Given the description of an element on the screen output the (x, y) to click on. 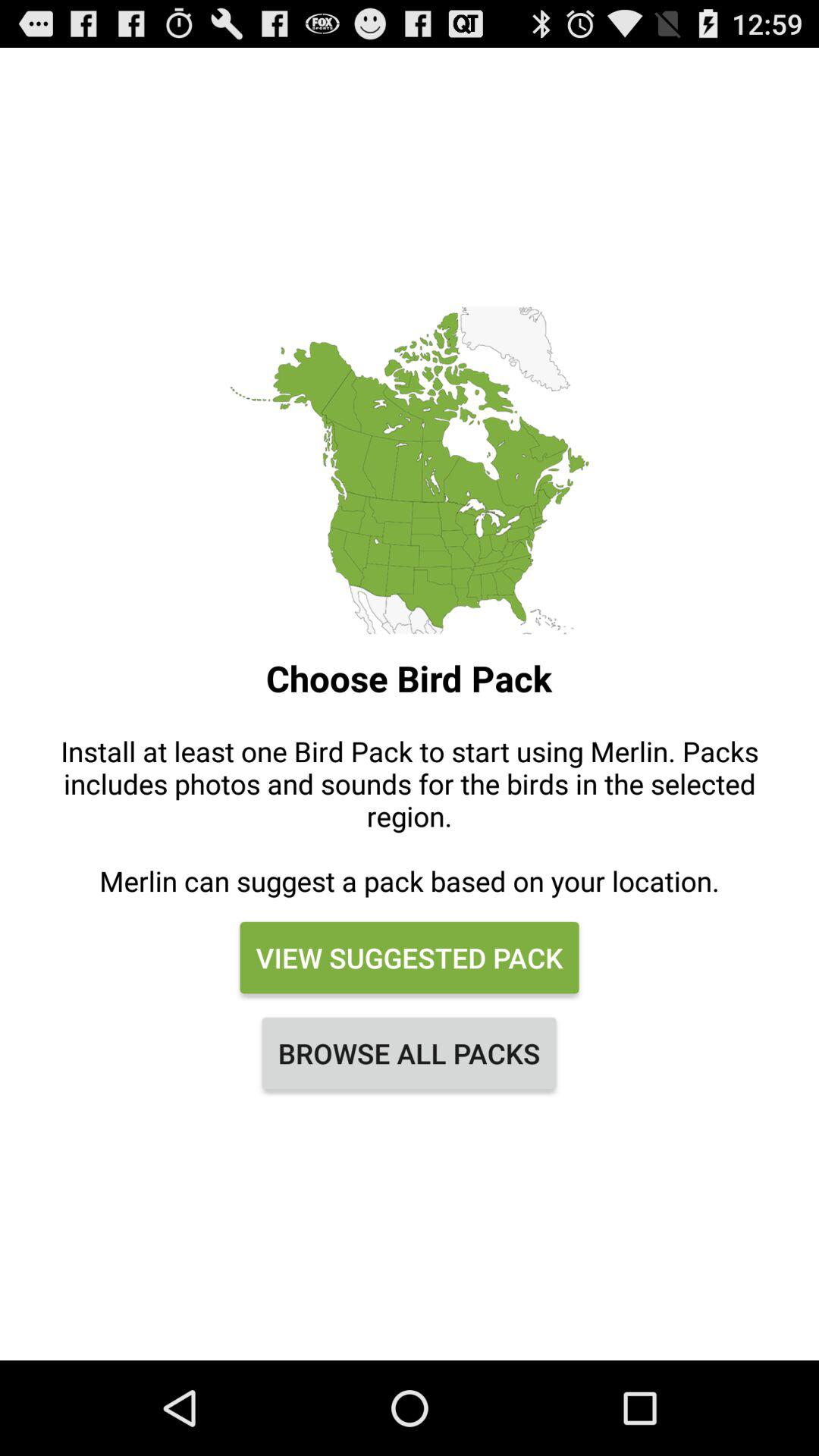
choose item below view suggested pack icon (409, 1053)
